Given the description of an element on the screen output the (x, y) to click on. 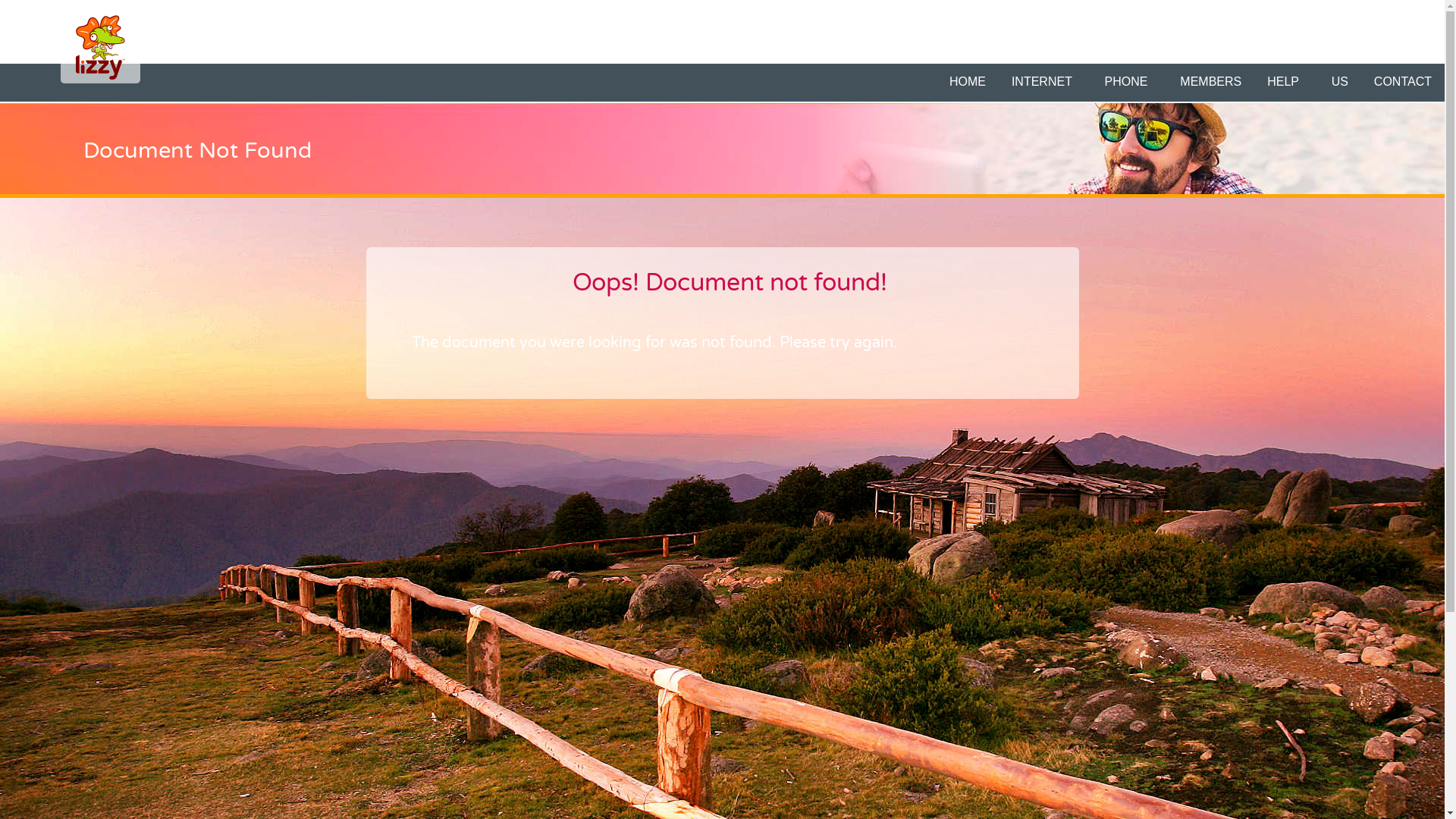
CONTACT Element type: text (1402, 81)
MEMBERS Element type: text (1210, 81)
HOME Element type: text (967, 81)
HELP   Element type: text (1285, 81)
PHONE   Element type: text (1129, 81)
US Element type: text (1339, 81)
INTERNET   Element type: text (1045, 81)
